Given the description of an element on the screen output the (x, y) to click on. 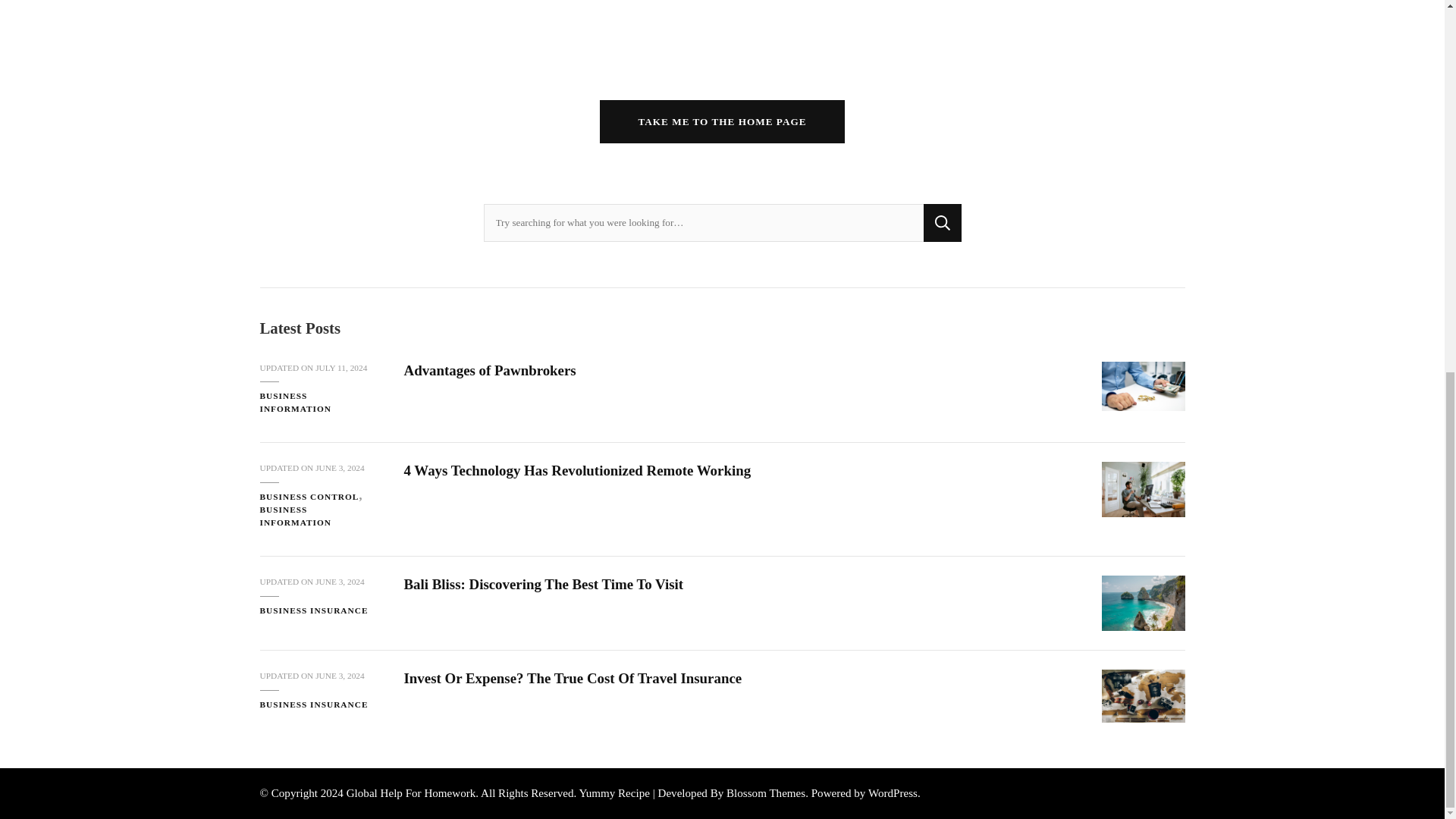
Search (941, 222)
Search (941, 222)
Invest Or Expense? The True Cost Of Travel Insurance (1142, 695)
BUSINESS INFORMATION (319, 402)
Search (941, 222)
TAKE ME TO THE HOME PAGE (721, 121)
4 Ways Technology Has Revolutionized Remote Working (1142, 488)
Advantages of Pawnbrokers (1142, 386)
JULY 11, 2024 (340, 367)
Bali Bliss: Discovering The Best Time To Visit (1142, 602)
